Given the description of an element on the screen output the (x, y) to click on. 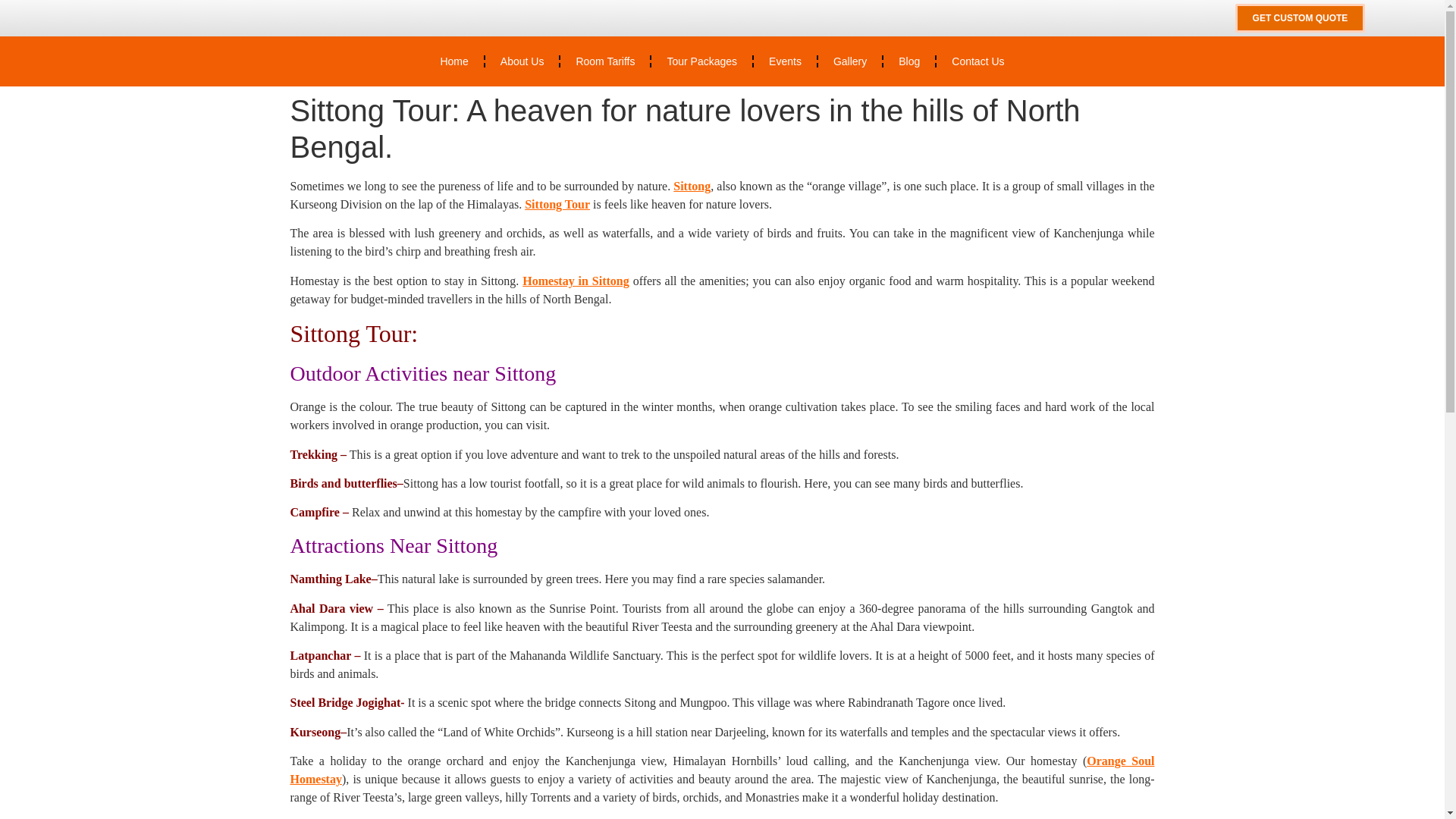
GET CUSTOM QUOTE (1299, 18)
Homestay in Sittong (575, 280)
Gallery (850, 61)
About Us (521, 61)
Tour Packages (701, 61)
Orange Soul Homestay (721, 769)
Sittong (691, 185)
Blog (908, 61)
Sittong Tour (556, 204)
Home (454, 61)
Contact Us (977, 61)
Room Tariffs (604, 61)
Events (785, 61)
